Given the description of an element on the screen output the (x, y) to click on. 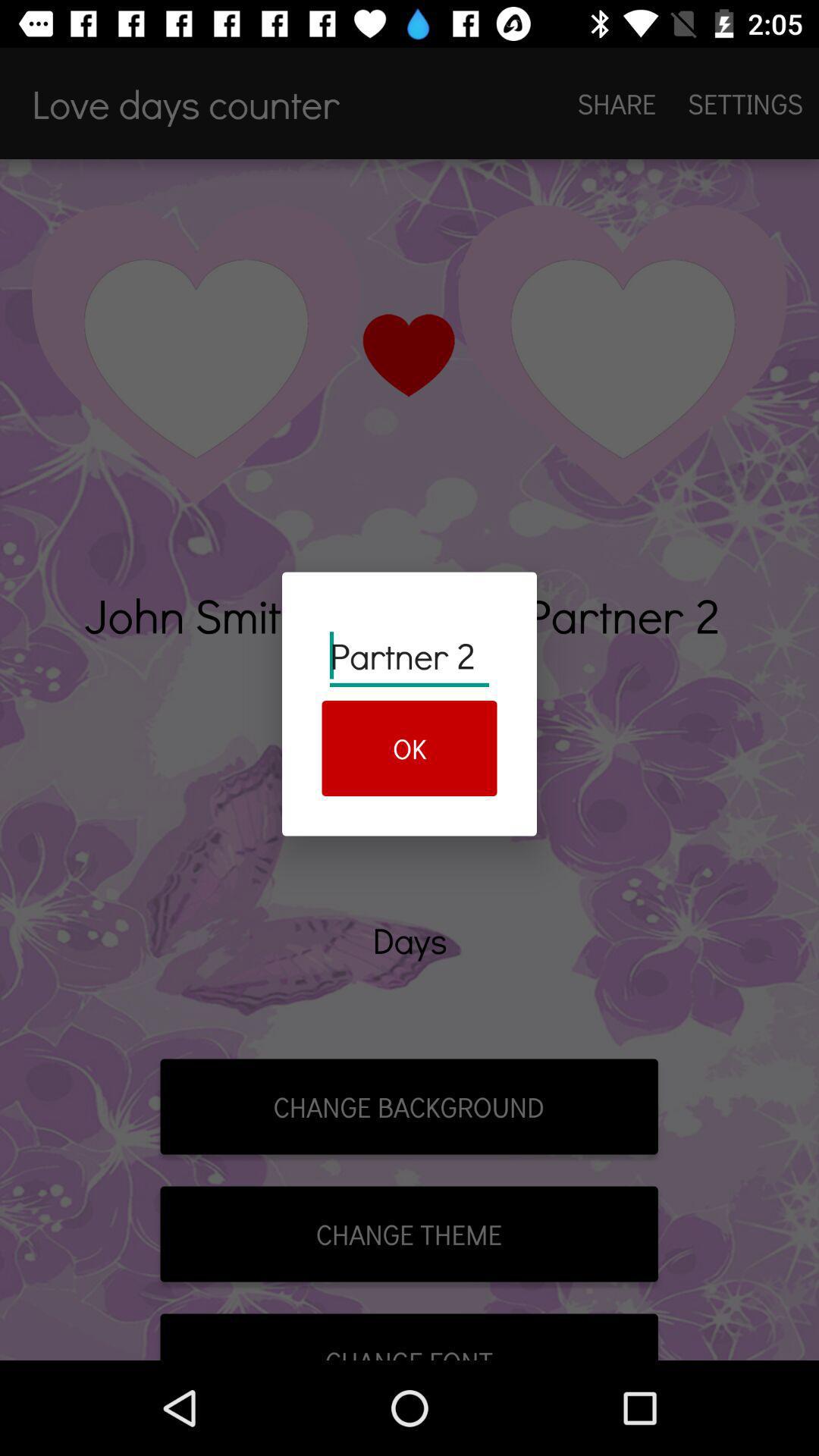
turn off the ok item (409, 748)
